Given the description of an element on the screen output the (x, y) to click on. 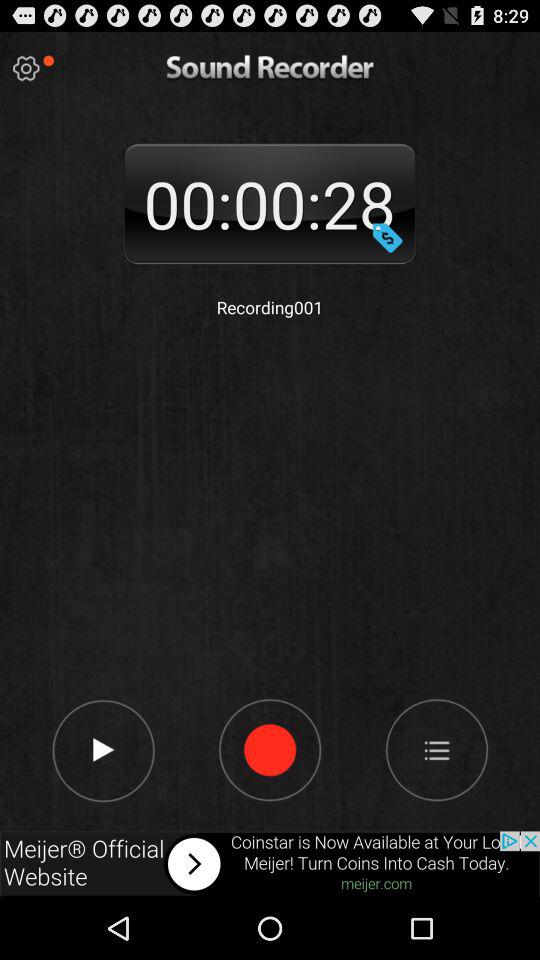
setting (26, 68)
